Given the description of an element on the screen output the (x, y) to click on. 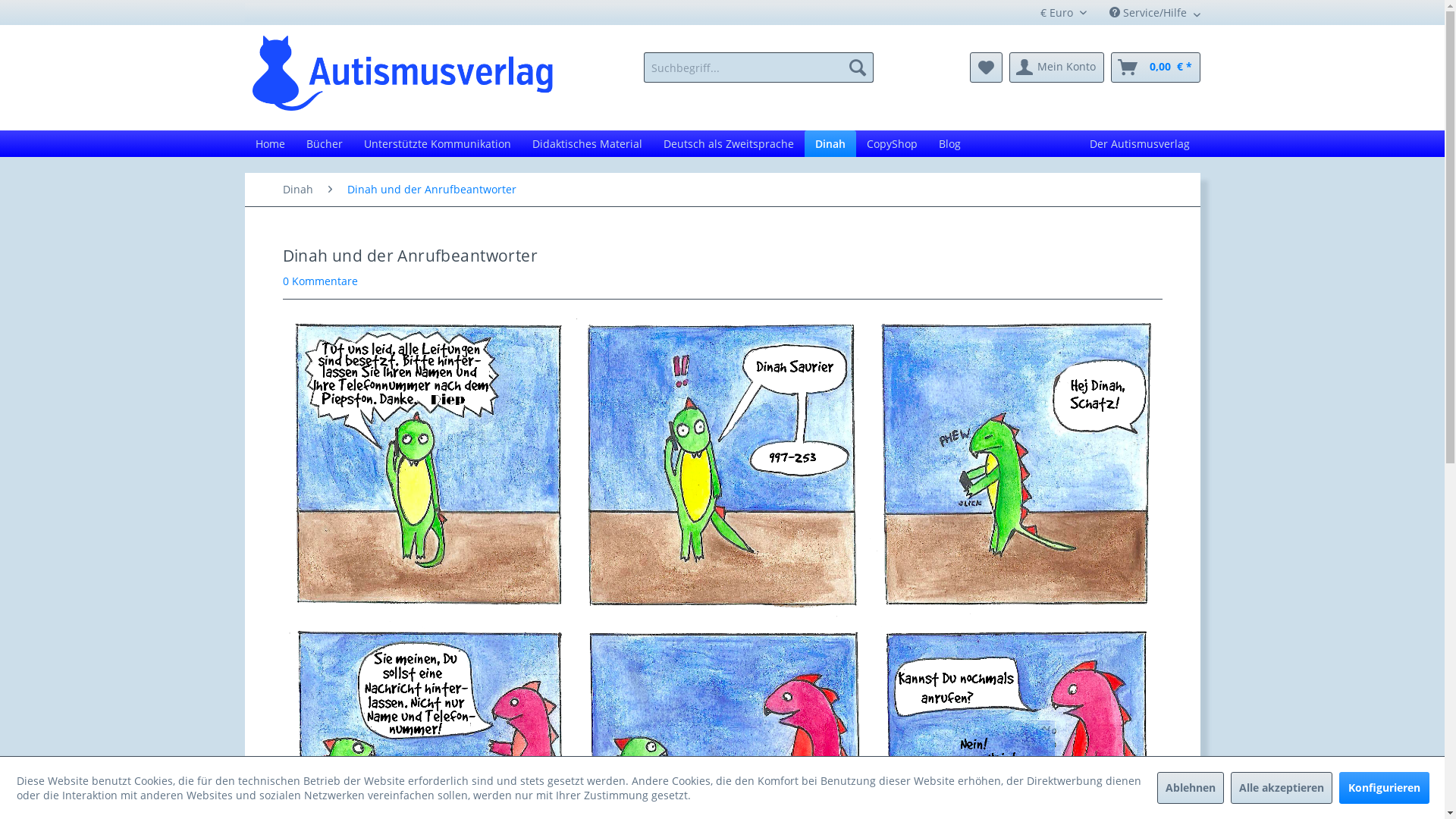
Konfigurieren Element type: text (1384, 787)
CopyShop Element type: text (891, 143)
Alle akzeptieren Element type: text (1280, 787)
Blog Element type: text (949, 143)
Mein Konto Element type: text (1055, 67)
Dinah Element type: text (829, 143)
Dinah und der Anrufbeantworter Element type: text (431, 189)
Dinah Element type: text (297, 189)
Didaktisches Material Element type: text (586, 143)
Autismusverlag - zur Startseite wechseln Element type: hover (401, 73)
Merkzettel Element type: hover (985, 67)
Deutsch als Zweitsprache Element type: text (727, 143)
Home Element type: text (269, 143)
Ablehnen Element type: text (1190, 787)
0 Kommentare Element type: text (319, 280)
